Given the description of an element on the screen output the (x, y) to click on. 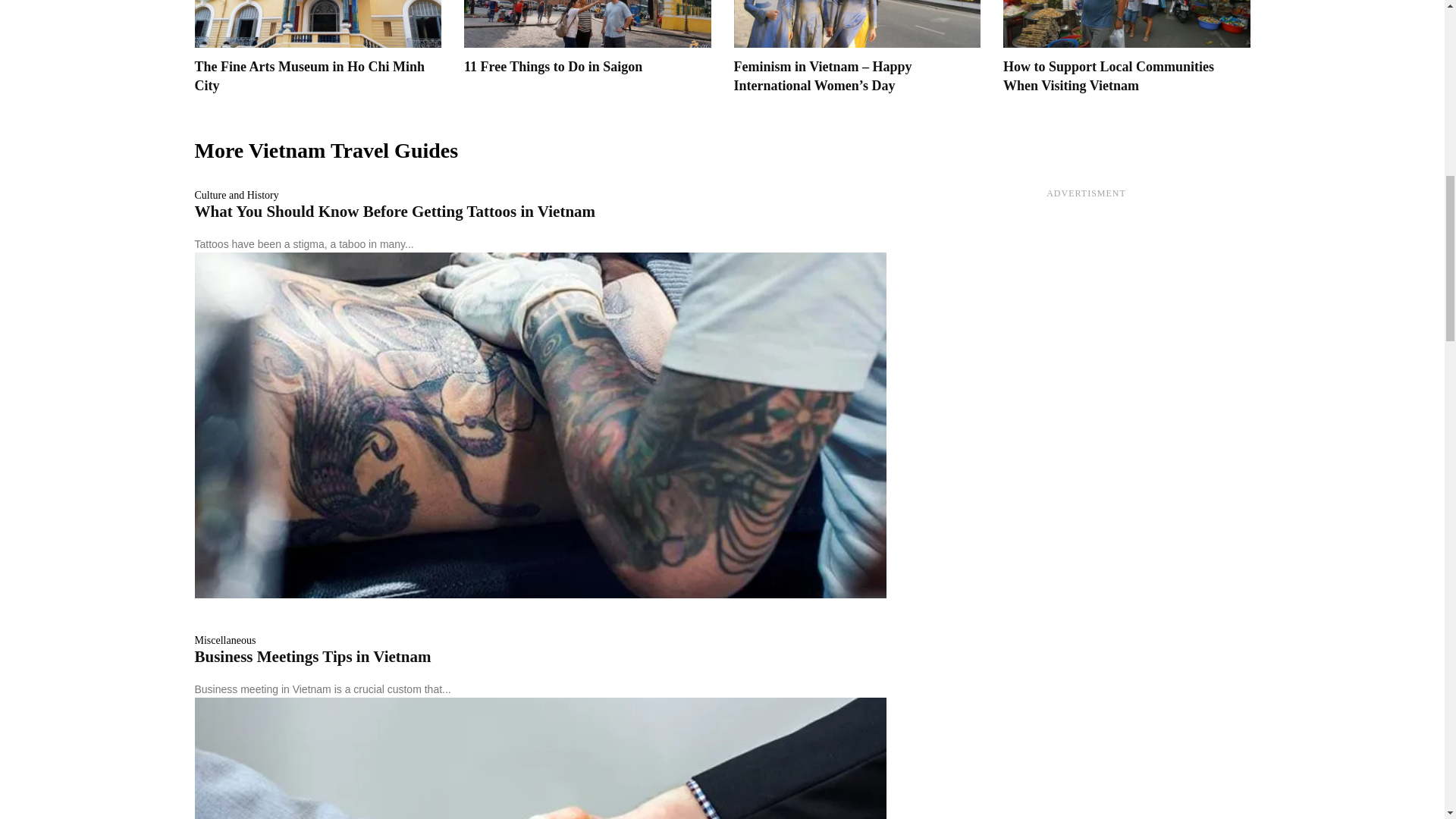
What You Should Know Before Getting Tattoos in Vietnam (394, 211)
Culture and History (235, 195)
How to Support Local Communities When Visiting Vietnam (1108, 75)
11 Free Things to Do in Saigon (553, 66)
Business Meetings Tips in Vietnam (311, 656)
The Fine Arts Museum in Ho Chi Minh City (309, 75)
Business Meetings Tips in Vietnam (311, 656)
The Fine Arts Museum in Ho Chi Minh City (309, 75)
Business Meetings Tips in Vietnam (539, 758)
11 Free Things to Do in Saigon (553, 66)
How to Support Local Communities When Visiting Vietnam (1108, 75)
Miscellaneous (224, 640)
How to Support Local Communities When Visiting Vietnam (1126, 23)
The Fine Arts Museum in Ho Chi Minh City (317, 23)
